Given the description of an element on the screen output the (x, y) to click on. 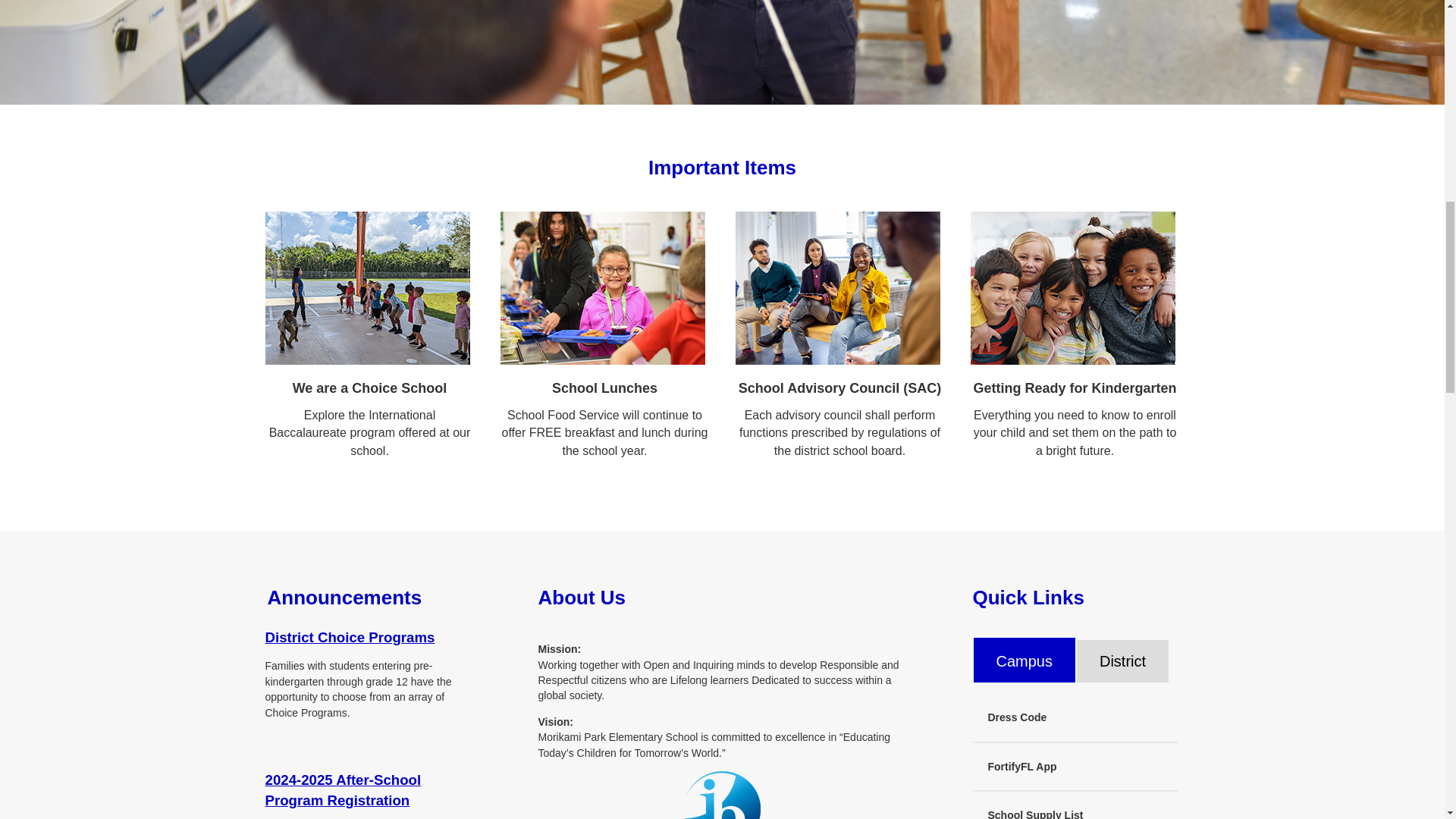
Opens Dress Code page (1074, 717)
Opens School Supply page (1074, 807)
